Given the description of an element on the screen output the (x, y) to click on. 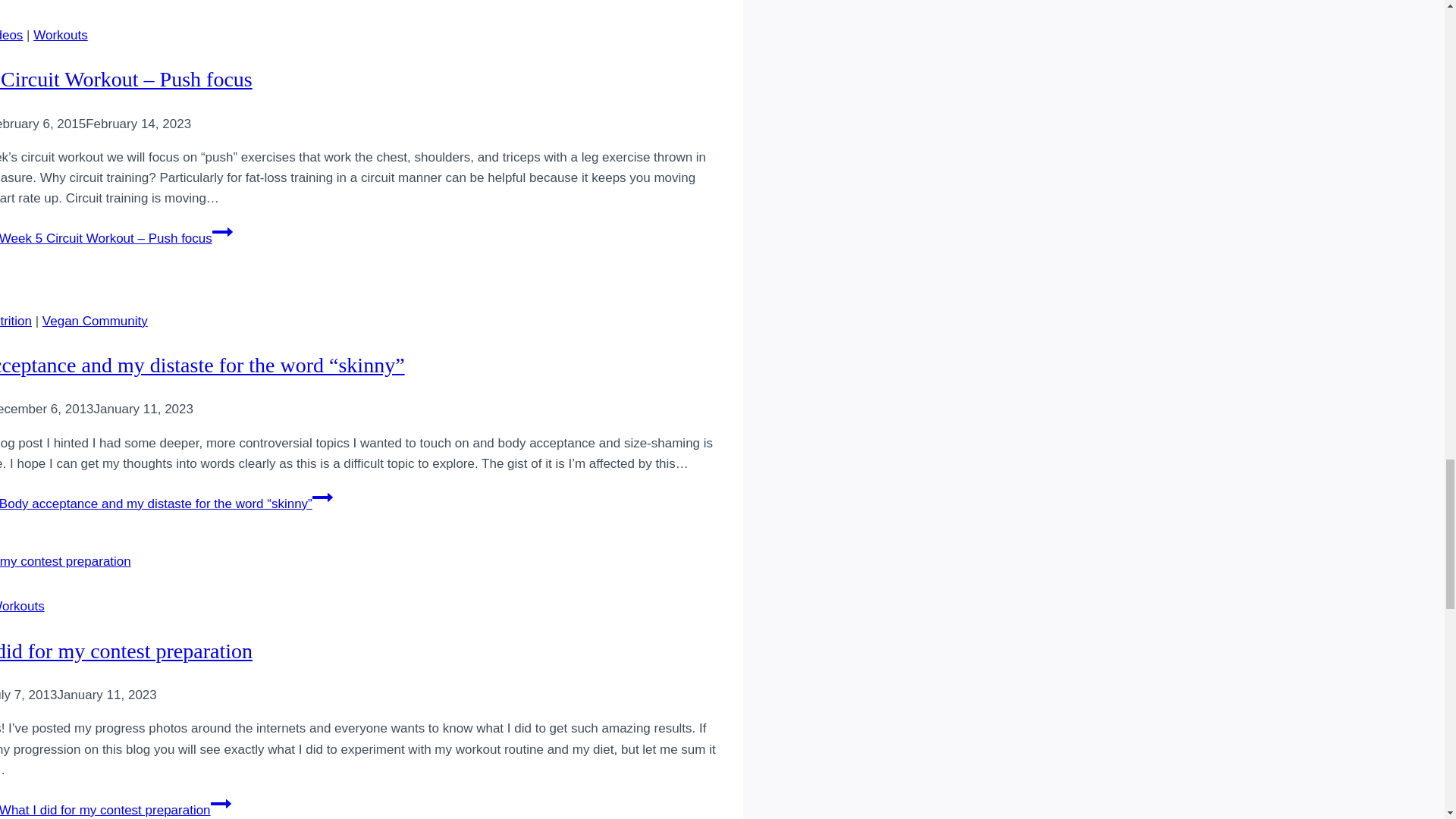
Continue (323, 496)
Workouts (60, 34)
Videos (11, 34)
Continue (222, 231)
Continue (221, 803)
